Given the description of an element on the screen output the (x, y) to click on. 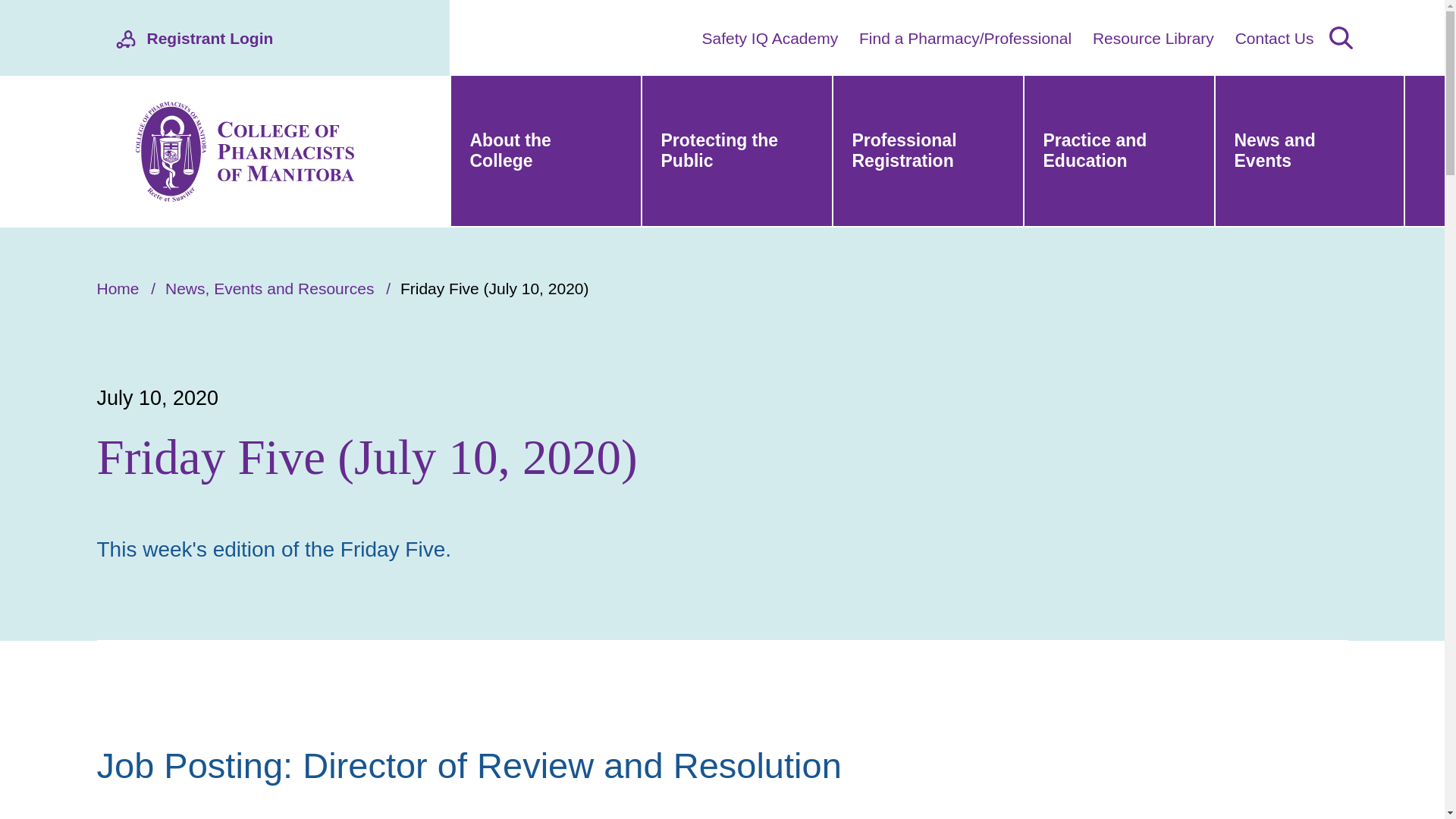
Professional Registration (926, 151)
Registrant Login (243, 38)
Contact Us (1274, 36)
Safety IQ Academy (769, 36)
Protecting the Public (735, 151)
Resource Library (1153, 36)
About the College (544, 151)
